Given the description of an element on the screen output the (x, y) to click on. 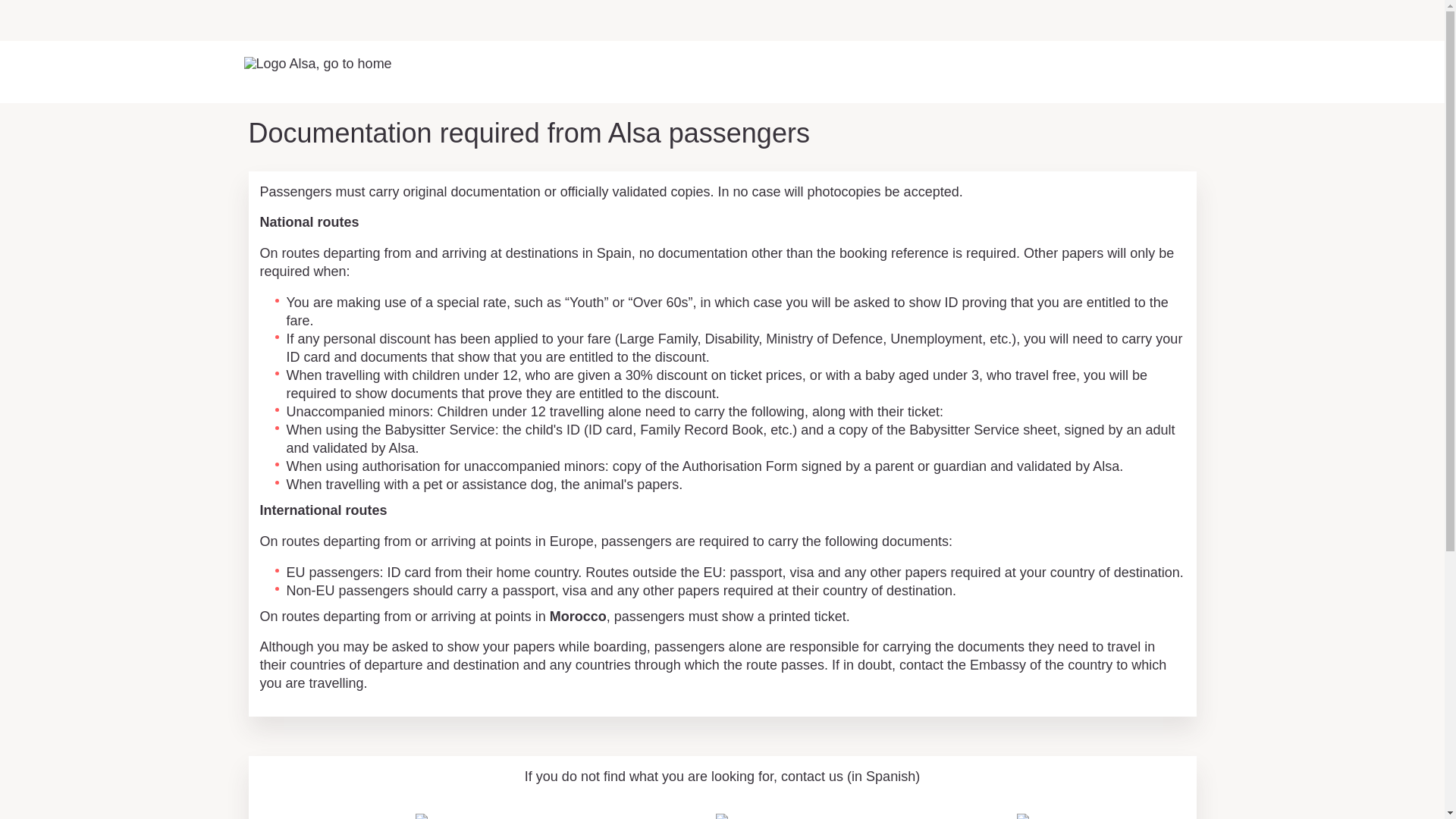
Share (1184, 743)
Logo Alsa, go to home (317, 67)
